Given the description of an element on the screen output the (x, y) to click on. 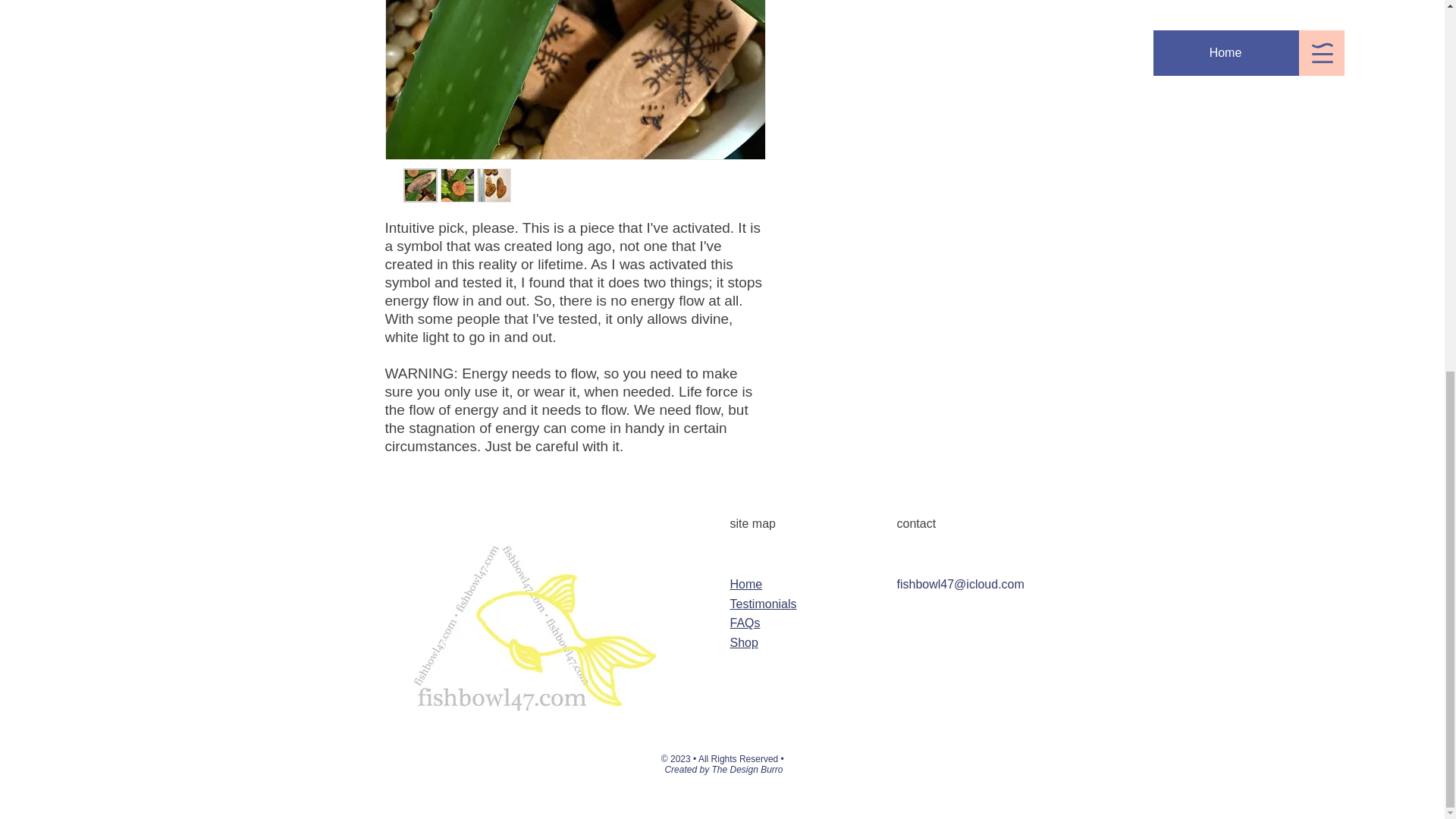
FAQs (744, 622)
Home (745, 584)
Shop (743, 642)
Created by The Design Burro (723, 769)
Testimonials (762, 603)
